Given the description of an element on the screen output the (x, y) to click on. 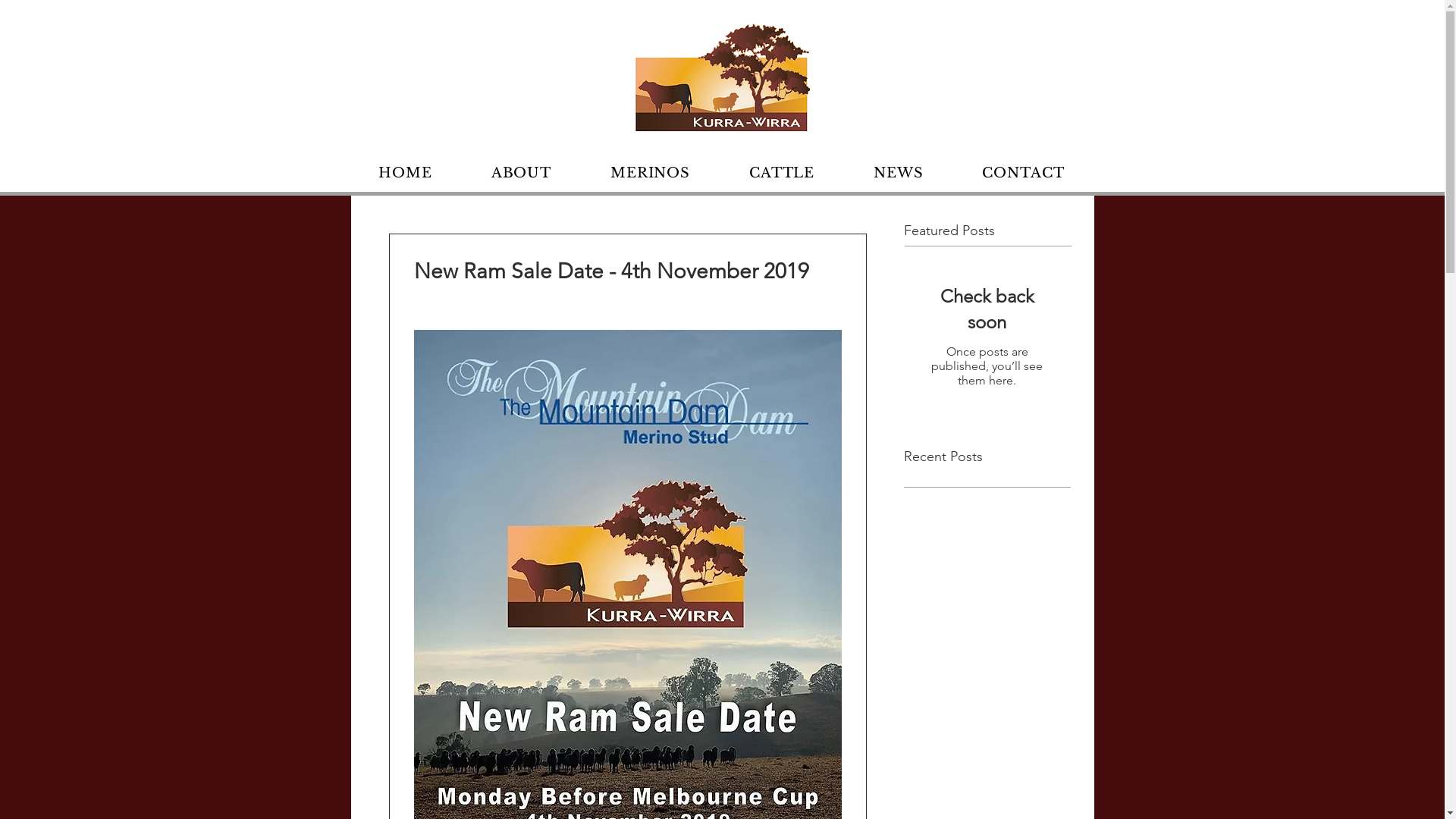
NEWS Element type: text (898, 172)
CONTACT Element type: text (1022, 172)
HOME Element type: text (404, 172)
